Given the description of an element on the screen output the (x, y) to click on. 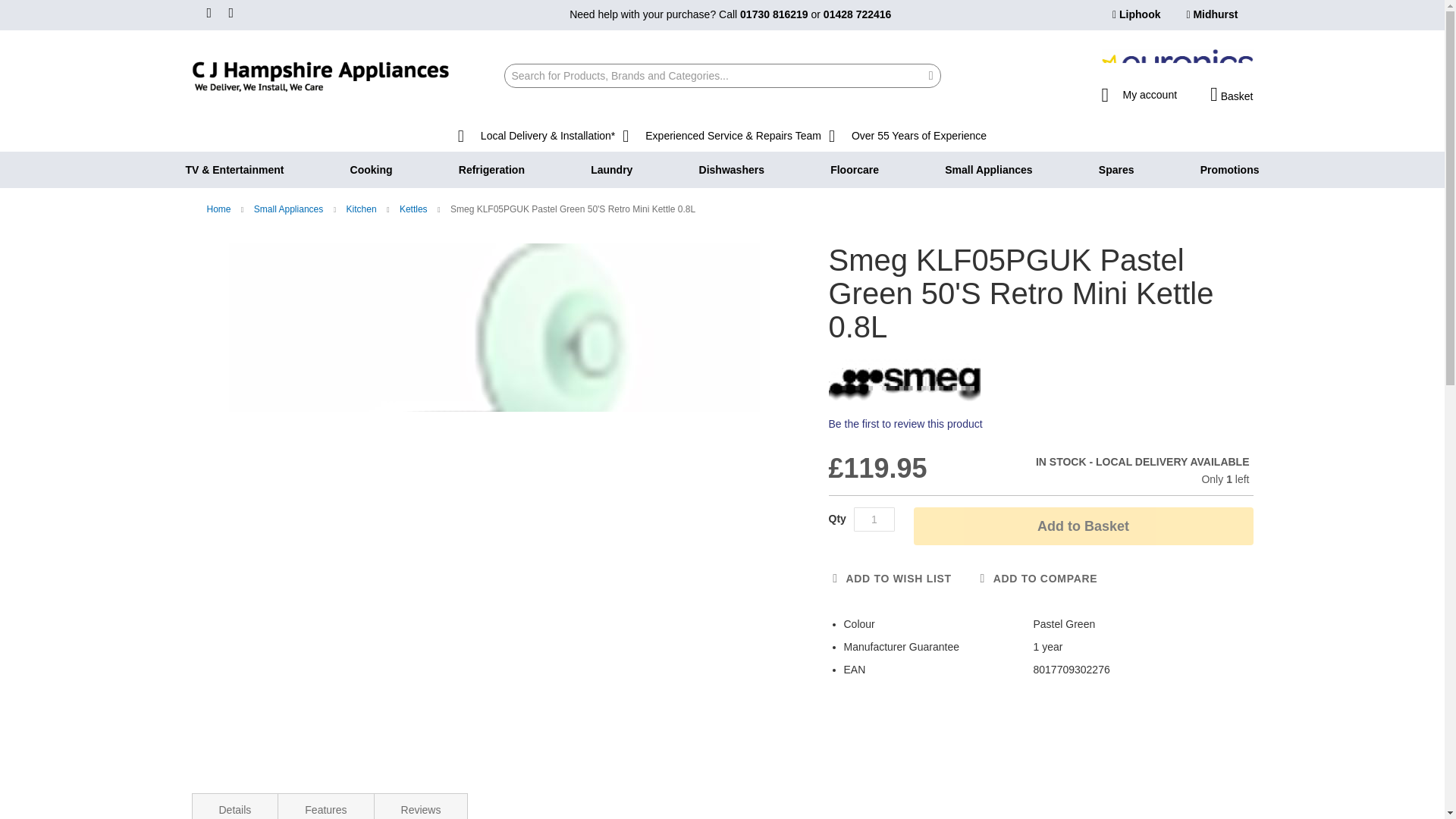
Qty (874, 518)
01428 722416 (857, 14)
Midhurst (1211, 14)
Availability (1135, 462)
Go to Home Page (219, 208)
1 (874, 518)
Over 55 Years of Experience (907, 136)
Basket (1230, 94)
Liphook (1136, 14)
My account (1138, 90)
